Given the description of an element on the screen output the (x, y) to click on. 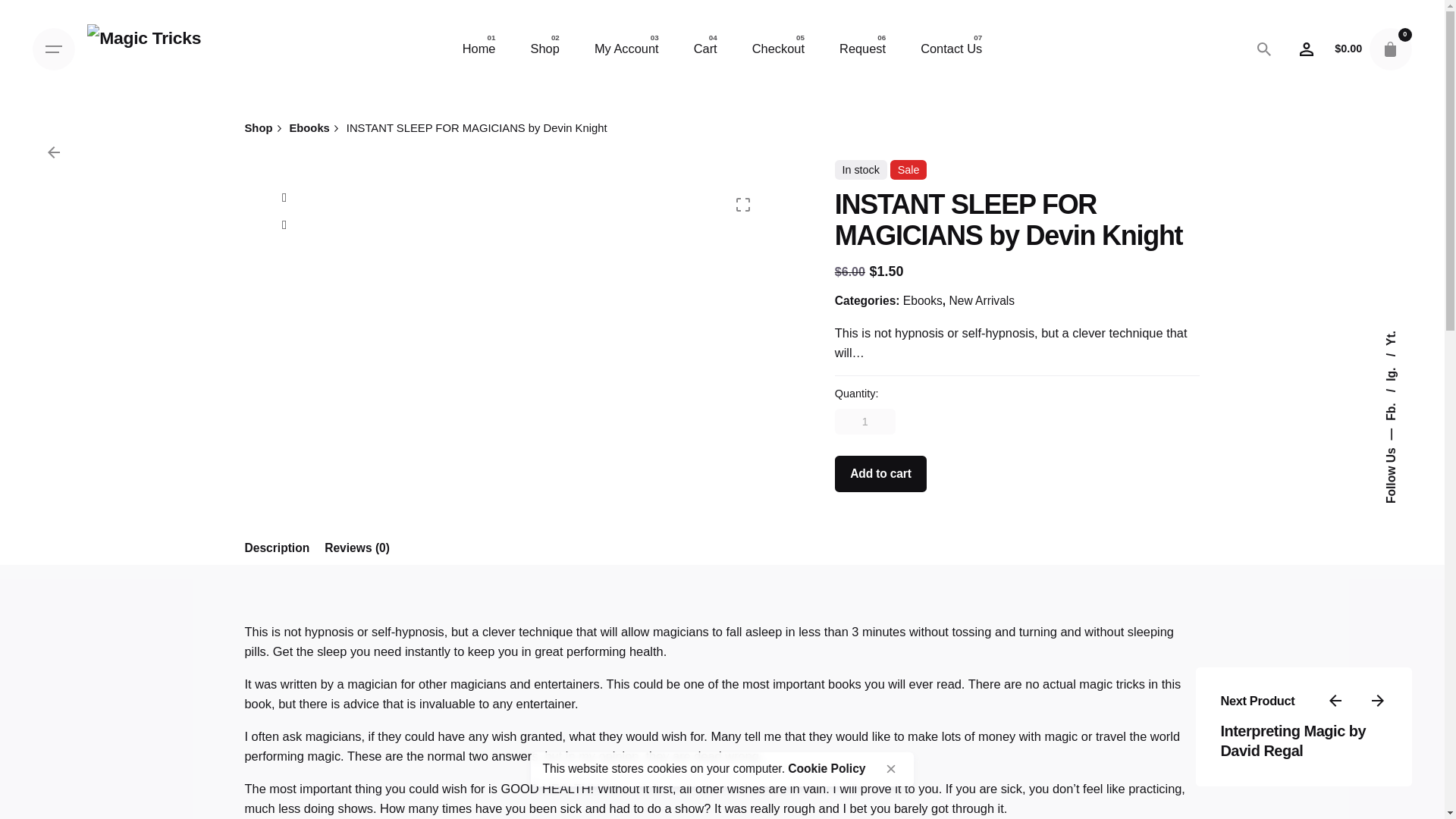
1 (864, 421)
Fb. (1399, 395)
Ig. (1398, 359)
Yt. (1391, 336)
Checkout (778, 49)
Cart (706, 49)
Request (862, 49)
My Account (626, 49)
Shop (544, 49)
Home (479, 49)
Contact Us (950, 49)
